Given the description of an element on the screen output the (x, y) to click on. 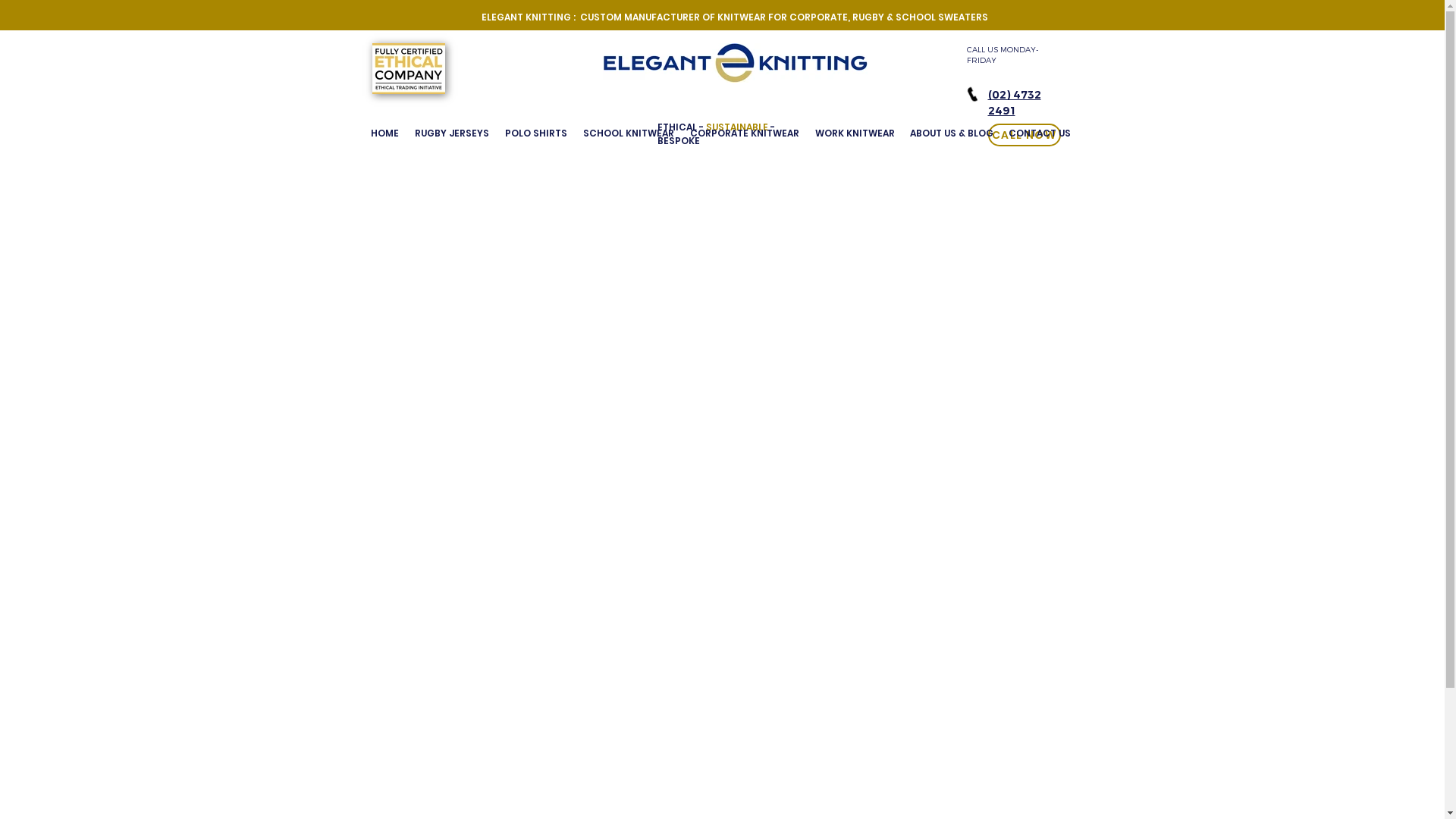
CALL NOW Element type: text (1023, 134)
POLO SHIRTS Element type: text (536, 133)
SCHOOL KNITWEAR Element type: text (627, 133)
WORK KNITWEAR Element type: text (853, 133)
CONTACT US Element type: text (1039, 133)
CORPORATE KNITWEAR Element type: text (744, 133)
RUGBY JERSEYS Element type: text (451, 133)
HOME Element type: text (384, 133)
new e header logo.jpg Element type: hover (734, 62)
(02) 4732 2491 Element type: text (1013, 102)
